Given the description of an element on the screen output the (x, y) to click on. 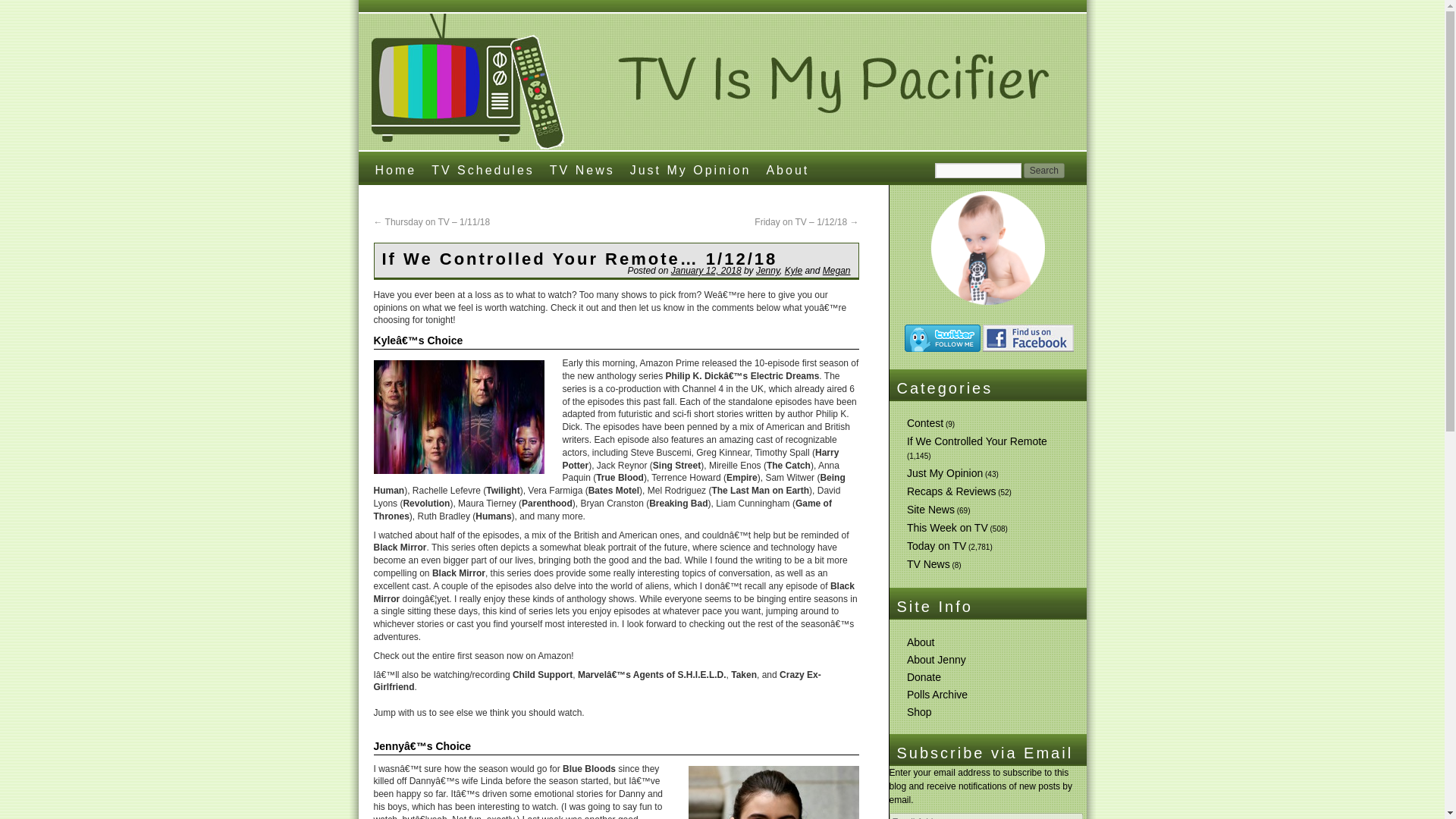
8:00 am (706, 270)
Jenny (766, 270)
January 12, 2018 (706, 270)
Site News (931, 509)
TV News (928, 563)
Just My Opinion (944, 472)
Posts by Kyle (793, 270)
TV News (582, 168)
Home (394, 168)
About (787, 168)
Today on TV (936, 545)
Search (1043, 170)
Search (1043, 170)
If We Controlled Your Remote (976, 440)
This Week on TV (947, 527)
